Given the description of an element on the screen output the (x, y) to click on. 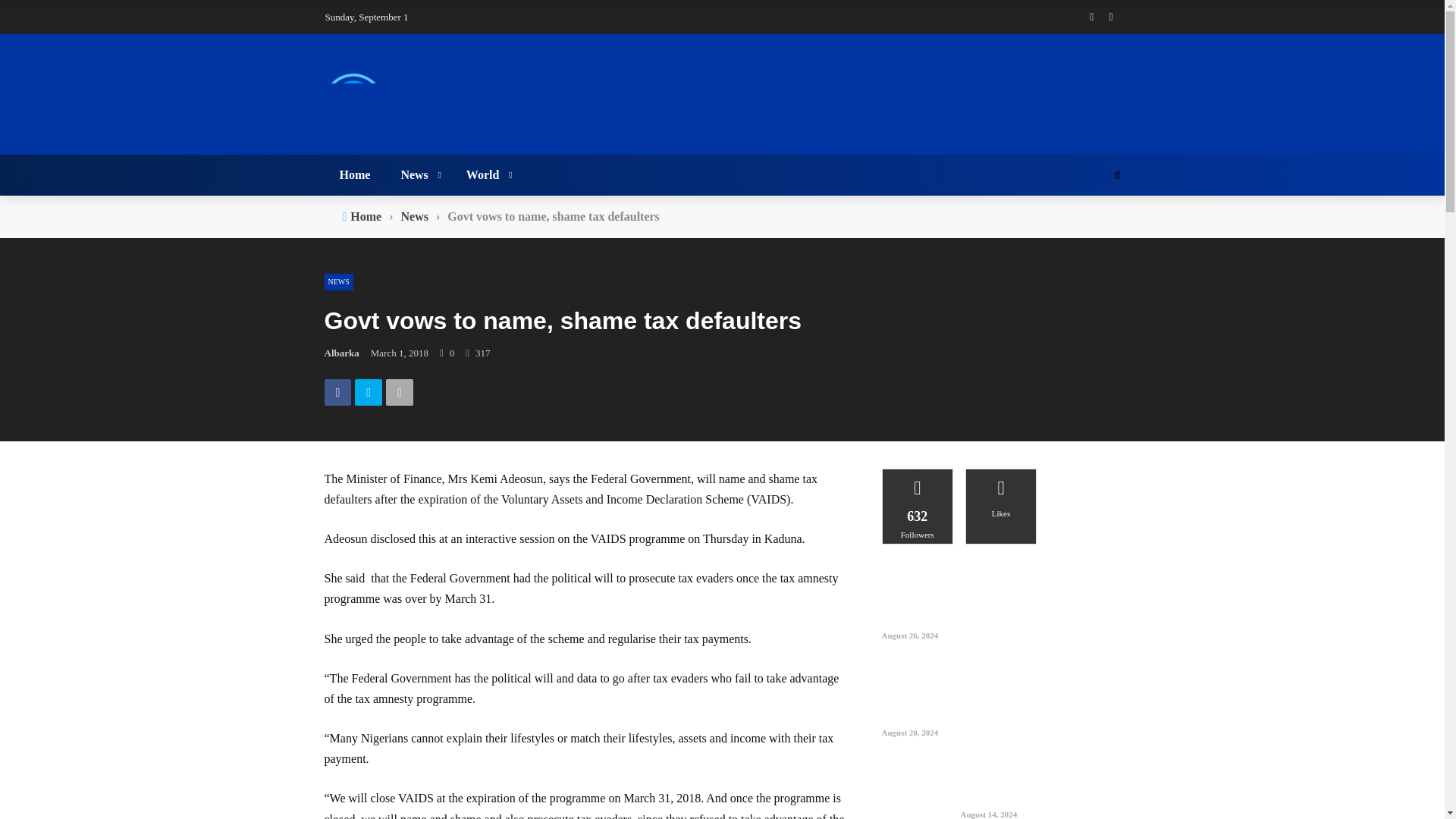
Home (365, 217)
Albarka (341, 352)
Home (354, 174)
News (417, 174)
World (486, 174)
News (414, 217)
NEWS (338, 281)
